Given the description of an element on the screen output the (x, y) to click on. 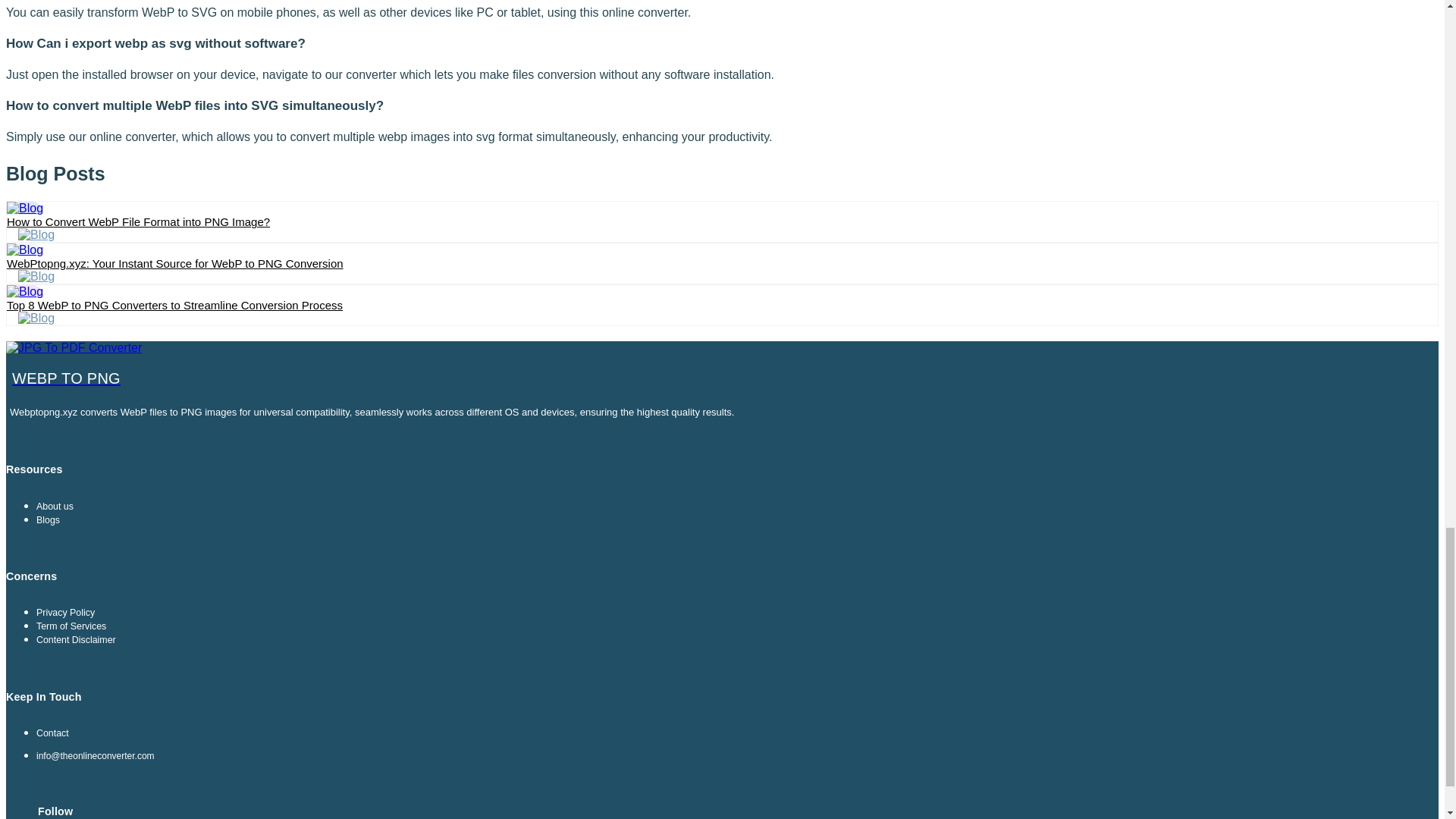
Privacy Policy (65, 612)
Term of Services (71, 625)
Content Disclaimer (76, 639)
Blogs (47, 520)
About us (55, 506)
Contact (52, 733)
